Given the description of an element on the screen output the (x, y) to click on. 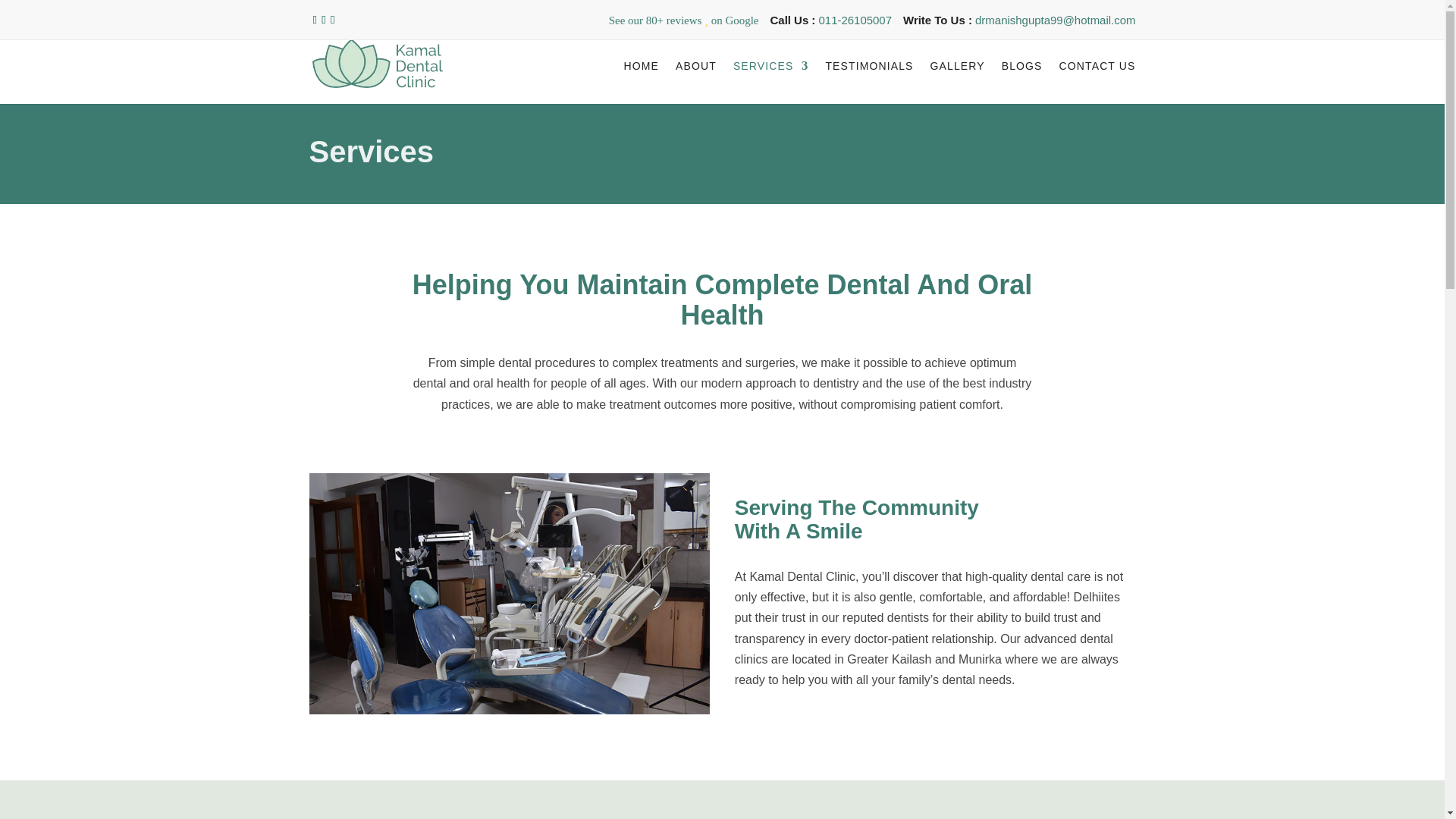
TESTIMONIALS (868, 78)
Call Us : 011-26105007 (831, 23)
GALLERY (957, 78)
CONTACT US (1097, 78)
SERVICES (771, 78)
